Given the description of an element on the screen output the (x, y) to click on. 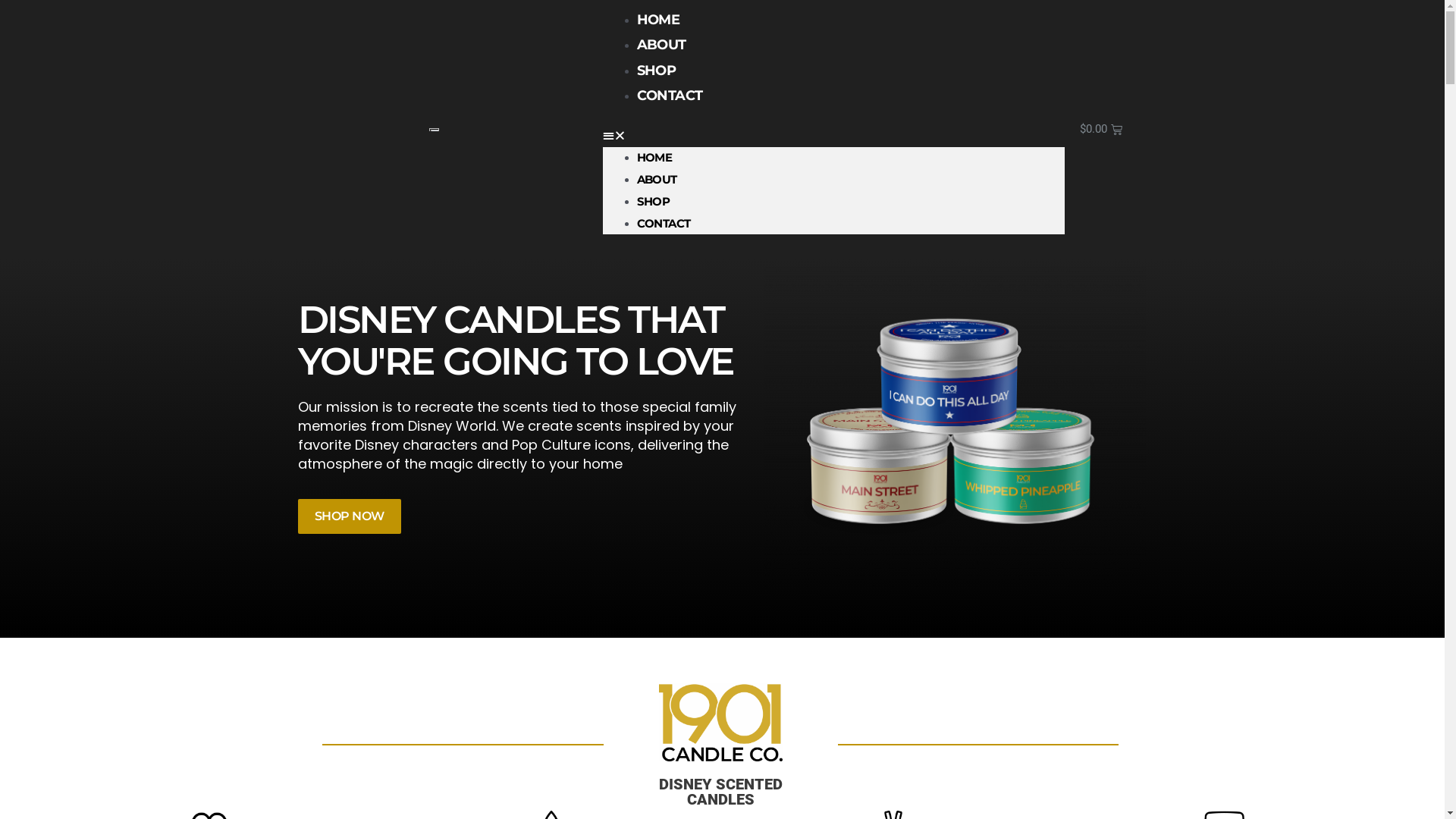
CONTACT Element type: text (669, 95)
ABOUT Element type: text (661, 44)
SHOP Element type: text (656, 70)
CONTACT Element type: text (663, 223)
HOME Element type: text (654, 157)
ABOUT Element type: text (657, 179)
SHOP Element type: text (653, 201)
Home 2 Element type: hover (720, 722)
SHOP NOW Element type: text (348, 515)
$0.00 Element type: text (1100, 129)
Home 1 Element type: hover (954, 426)
